Given the description of an element on the screen output the (x, y) to click on. 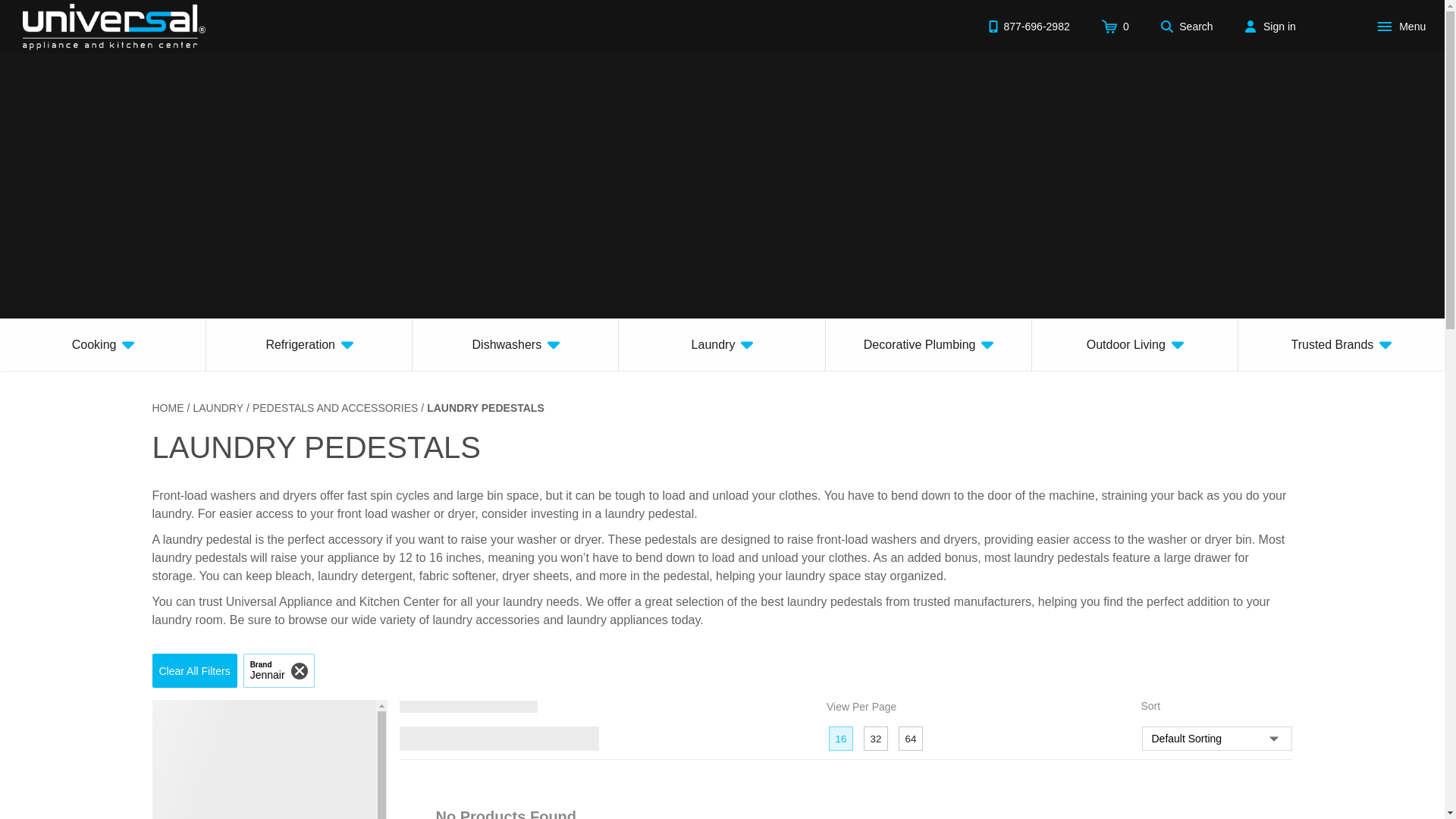
Decorative Plumbing (928, 344)
HOME (167, 408)
Refrigeration (309, 344)
PEDESTALS AND ACCESSORIES (334, 408)
LAUNDRY (217, 408)
2 (468, 738)
Remove Jennair Brand Filter (278, 670)
5 (555, 738)
Outdoor Living (1135, 344)
Cooking (103, 344)
